Given the description of an element on the screen output the (x, y) to click on. 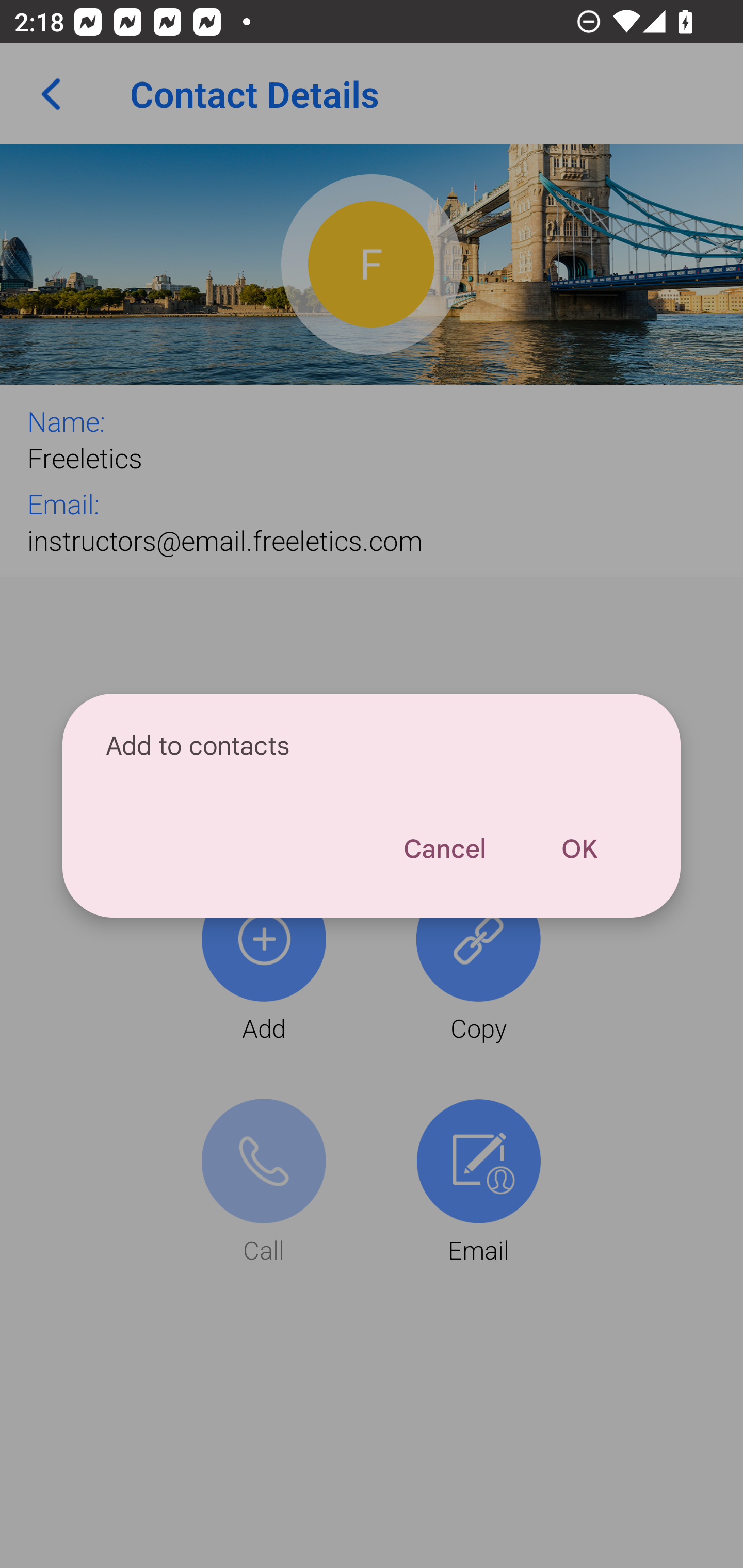
Cancel (444, 848)
OK (579, 848)
